Given the description of an element on the screen output the (x, y) to click on. 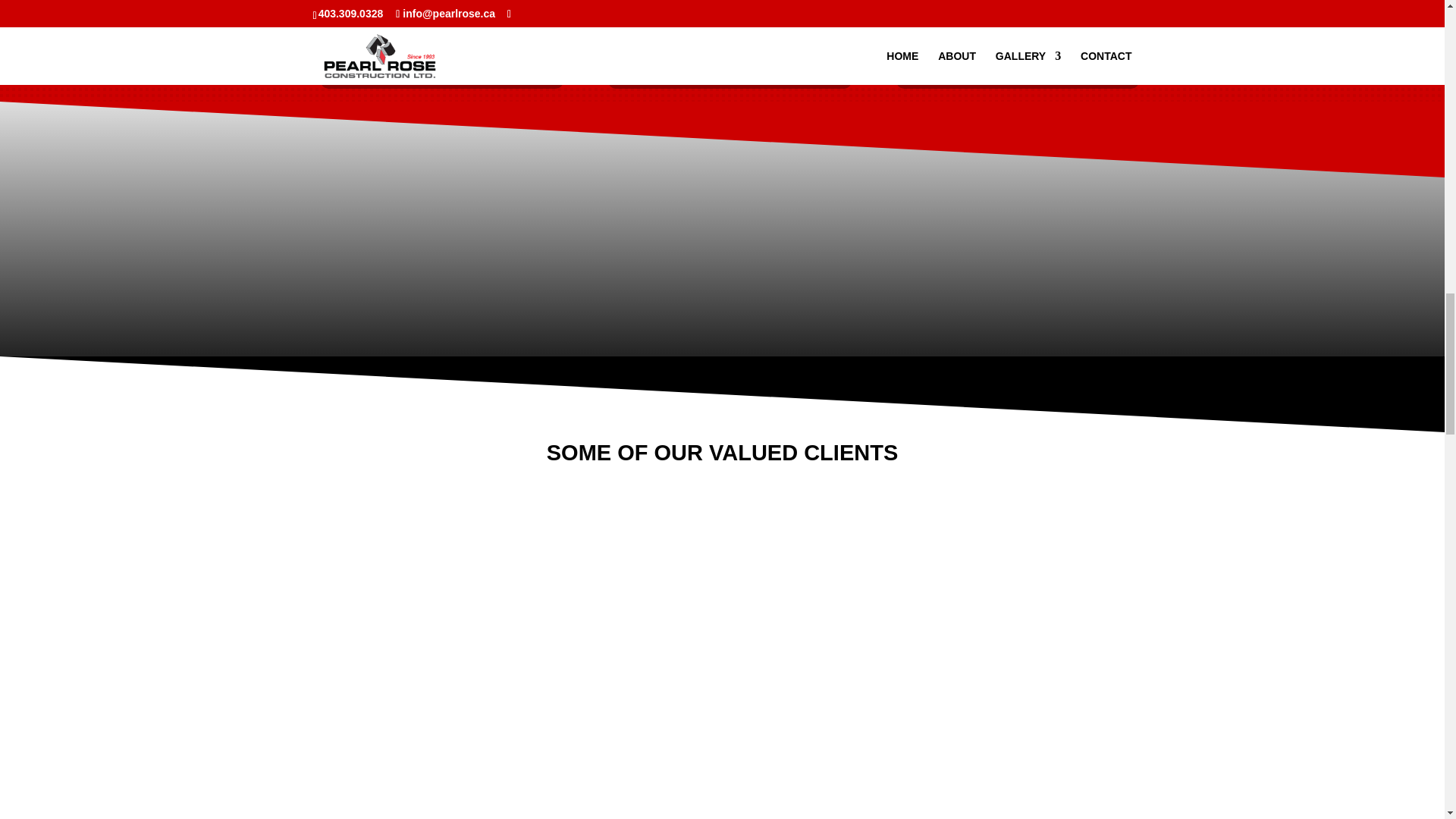
City-of-Red-Deer-logo (829, 670)
alberta-health-services-logo (398, 670)
John-Mansville (1045, 670)
chinooks-edge (613, 670)
